Given the description of an element on the screen output the (x, y) to click on. 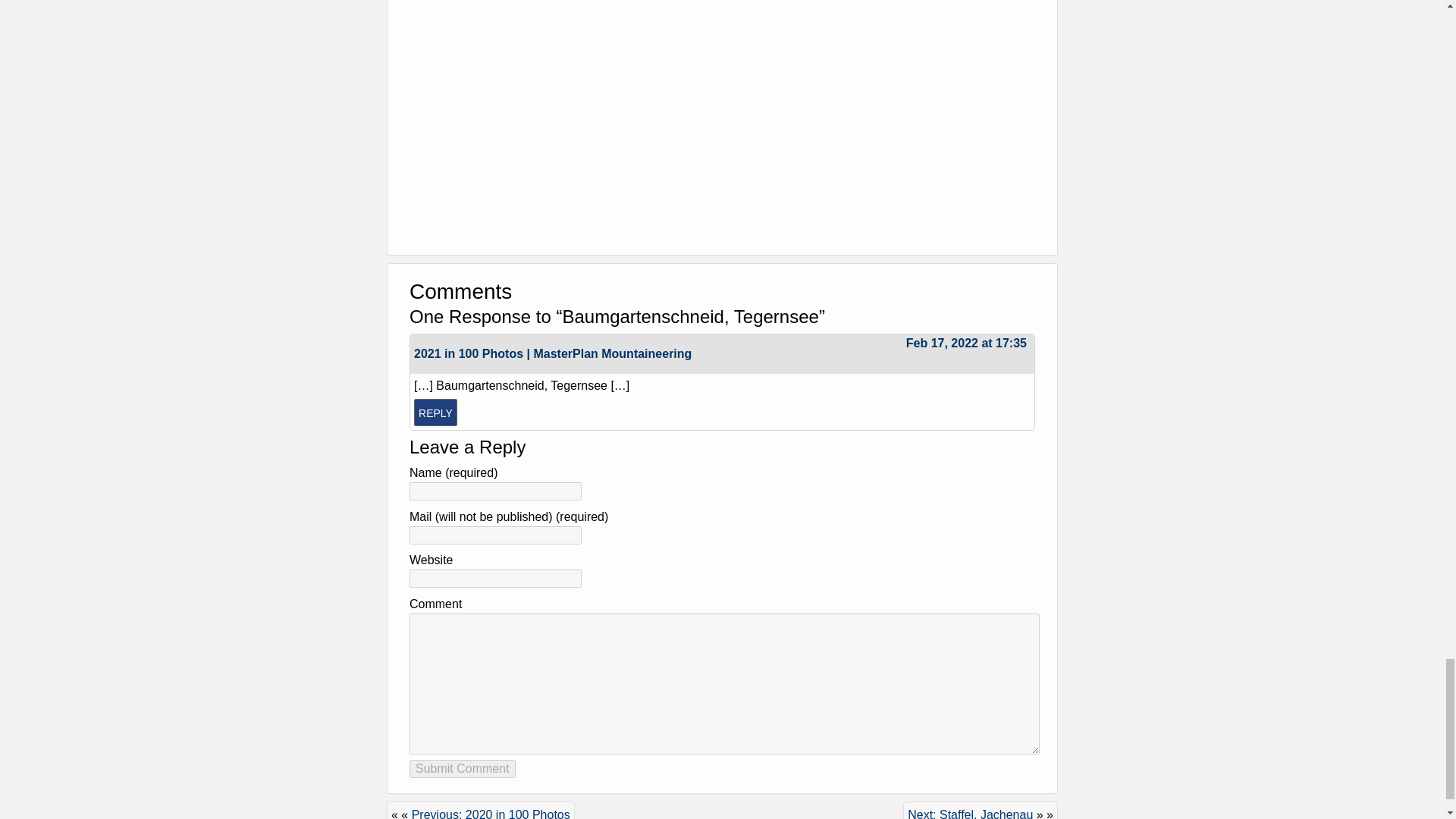
Submit Comment (462, 769)
